Given the description of an element on the screen output the (x, y) to click on. 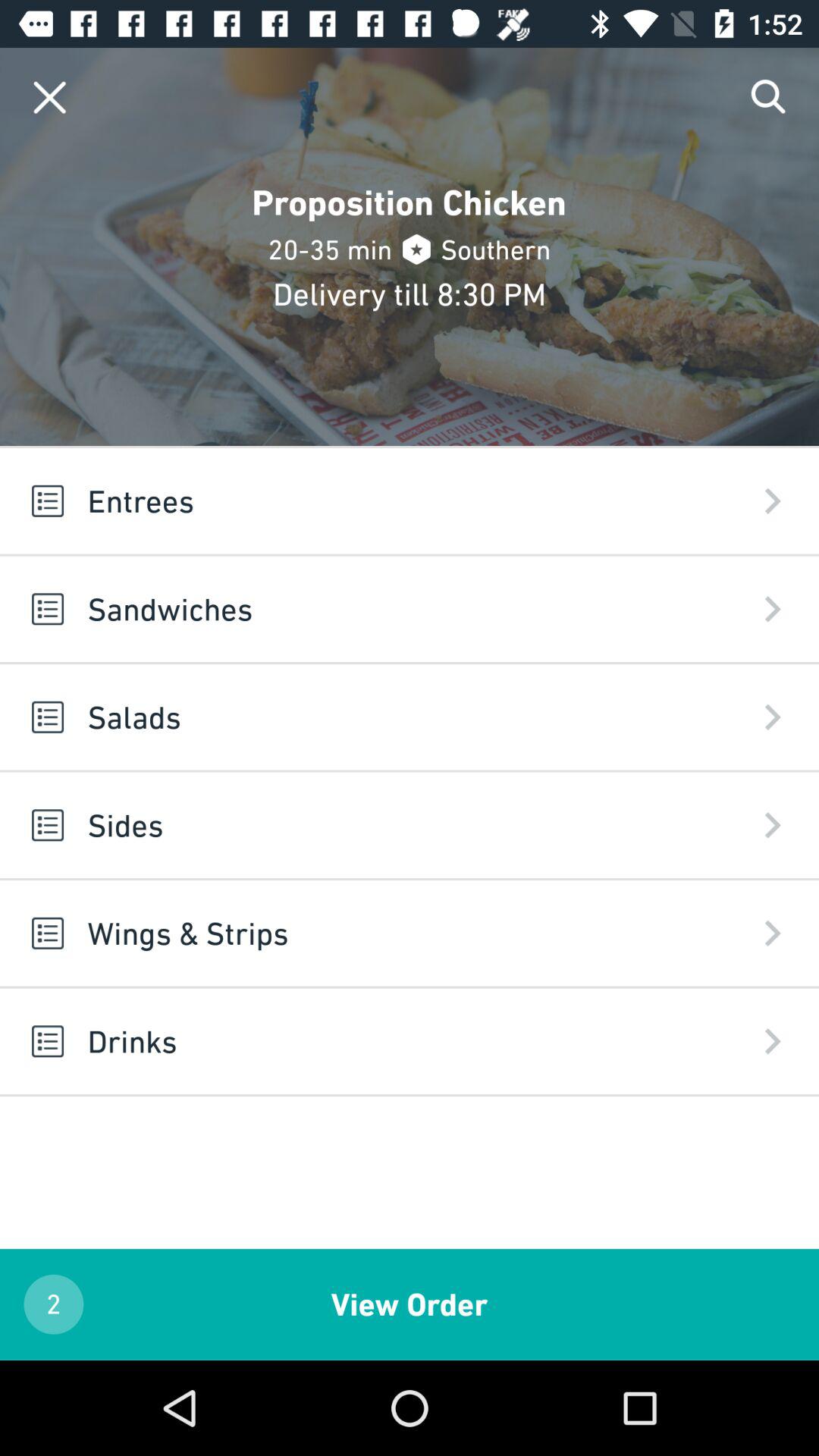
tap the icon above entrees (769, 97)
